Given the description of an element on the screen output the (x, y) to click on. 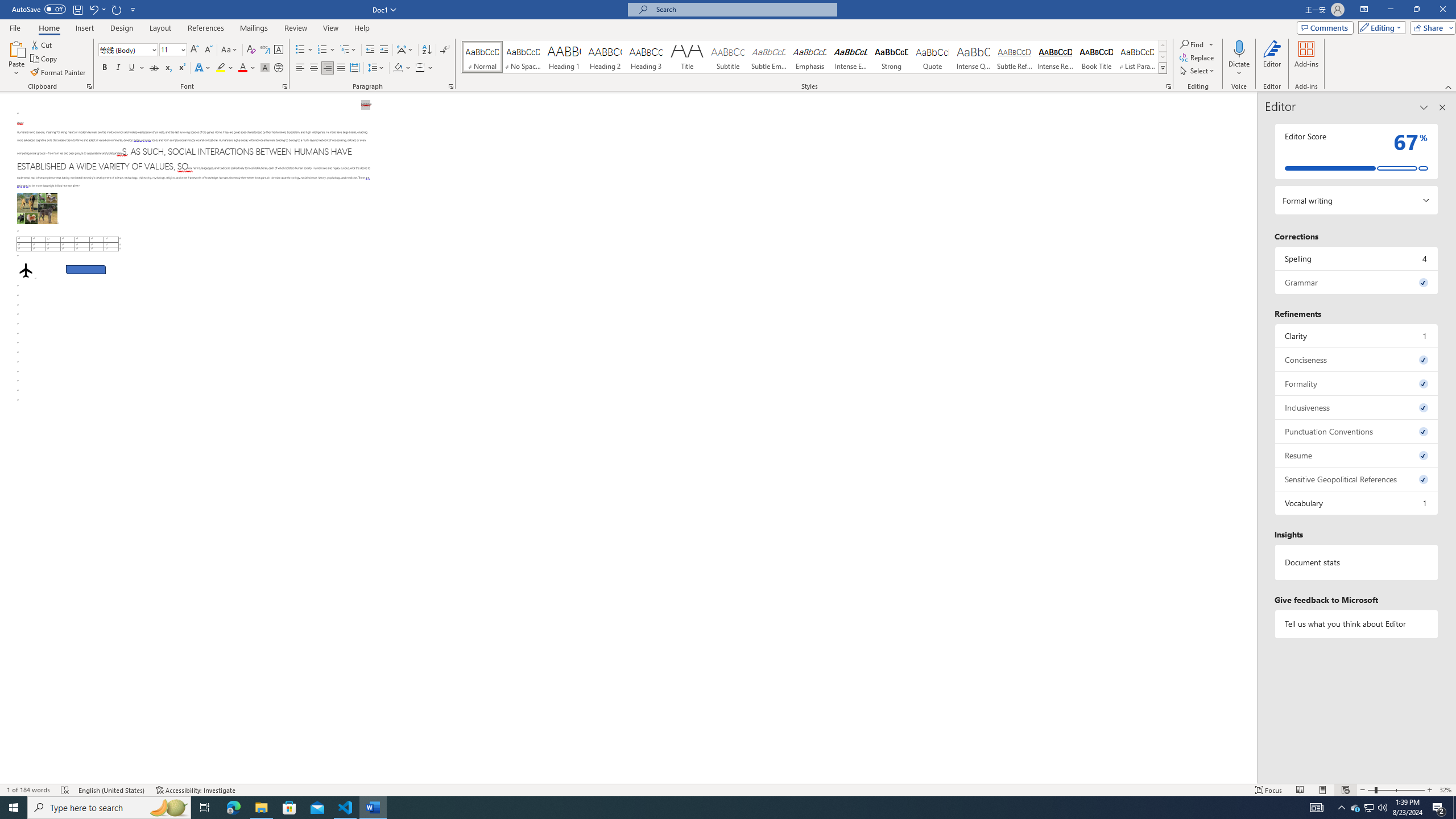
Undo Paragraph Alignment (92, 9)
Resume, 0 issues. Press space or enter to review items. (1356, 454)
Repeat Paragraph Alignment (117, 9)
Quote (932, 56)
Intense Emphasis (849, 56)
Tell us what you think about Editor (1356, 624)
